Given the description of an element on the screen output the (x, y) to click on. 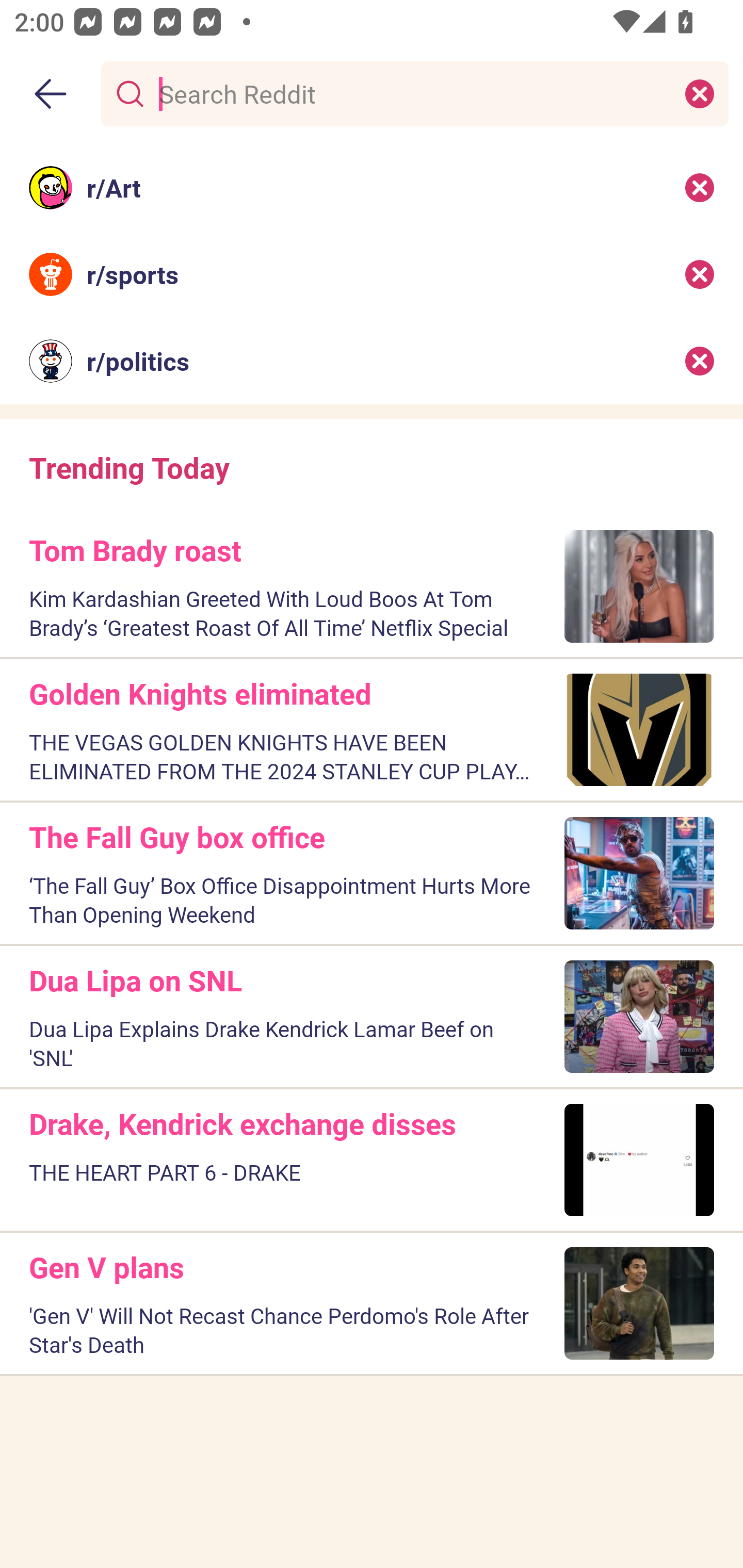
Back (50, 93)
Search Reddit (410, 93)
Clear search (699, 93)
r/Art Recent search: r/Art Remove (371, 187)
Remove (699, 187)
r/sports Recent search: r/sports Remove (371, 274)
Remove (699, 274)
r/politics Recent search: r/politics Remove (371, 361)
Remove (699, 361)
